Given the description of an element on the screen output the (x, y) to click on. 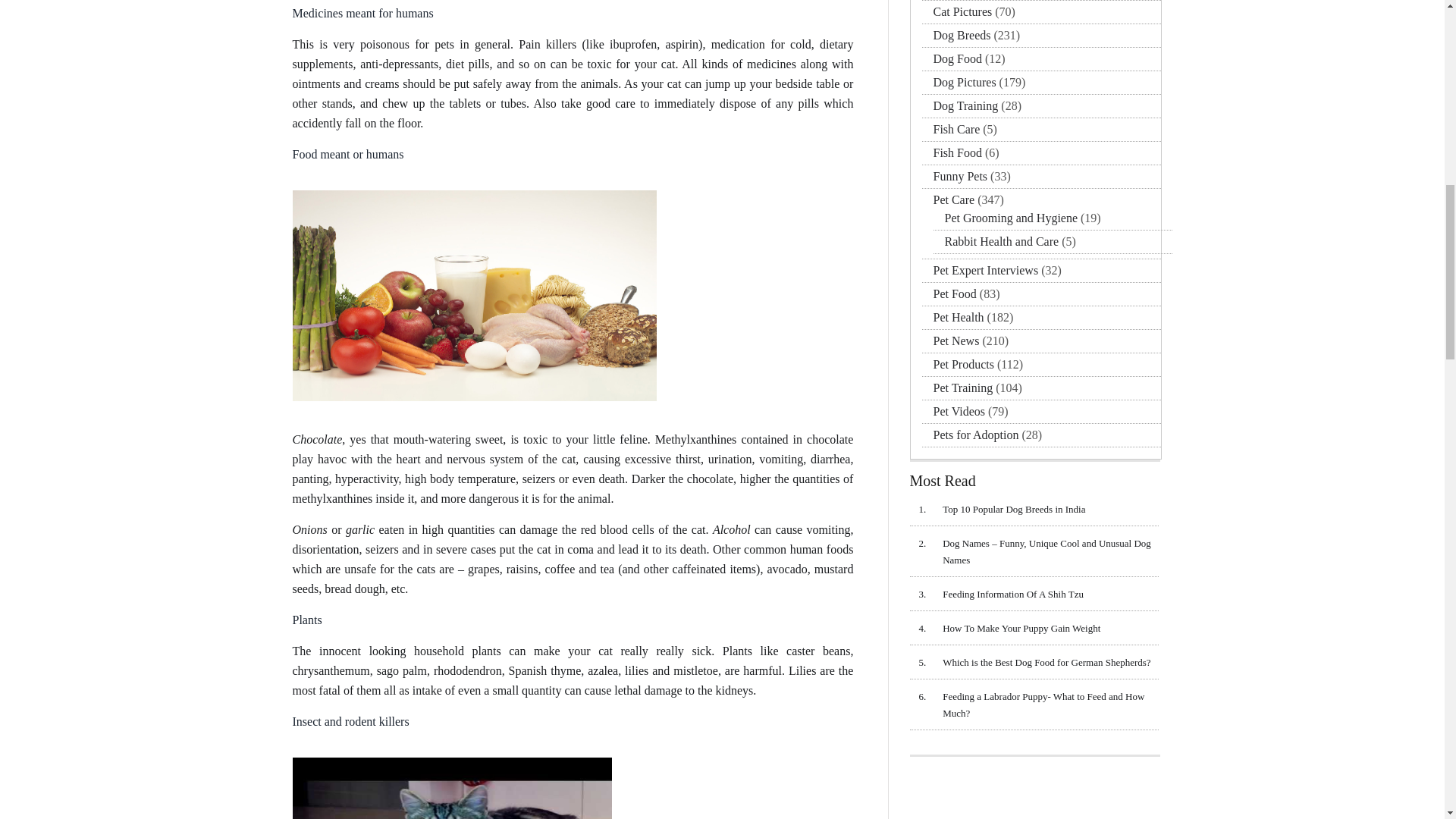
Advertisement (1035, 792)
